Given the description of an element on the screen output the (x, y) to click on. 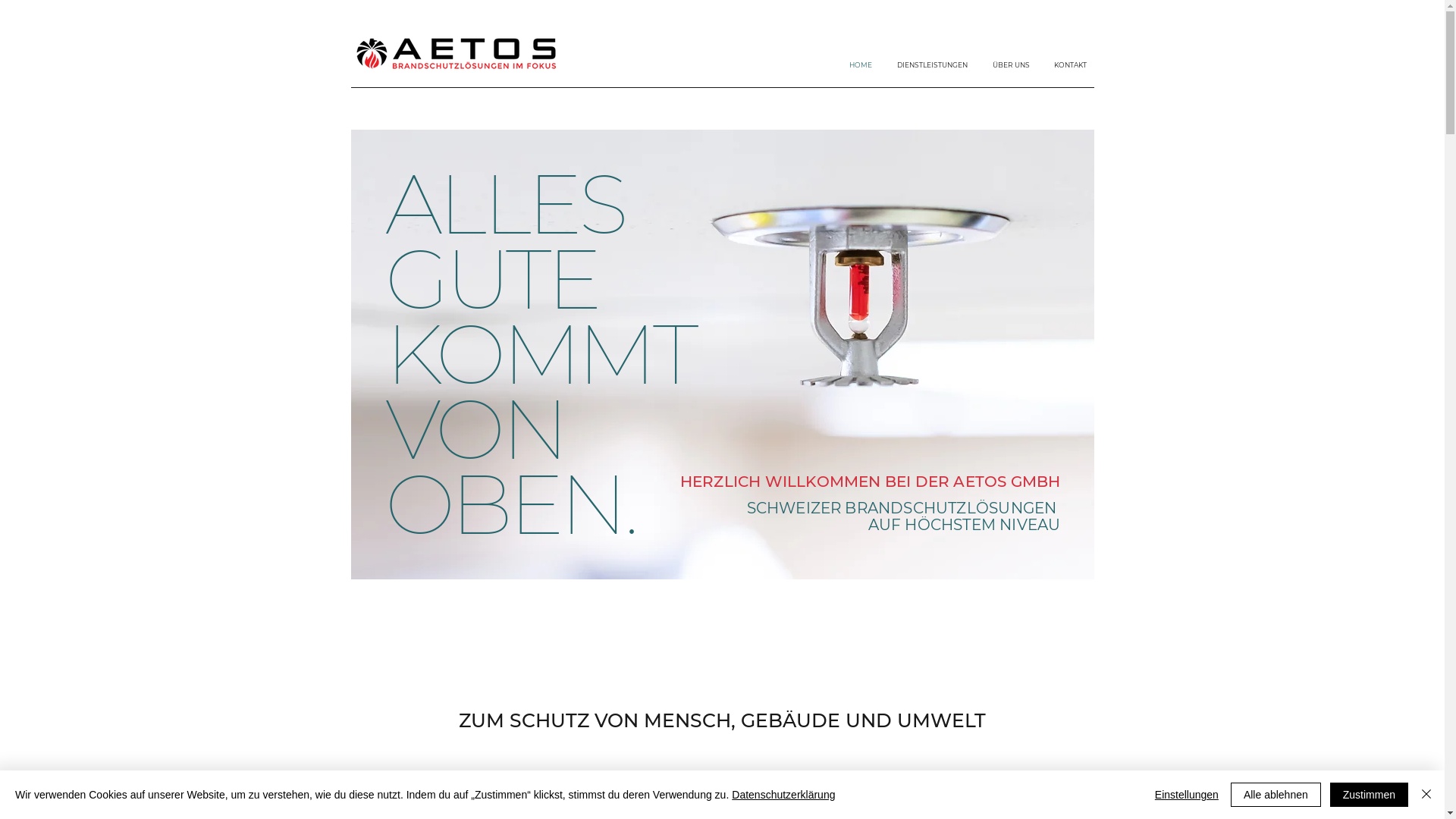
Zustimmen Element type: text (1369, 794)
KONTAKT Element type: text (1065, 65)
HOME Element type: text (854, 65)
Alle ablehnen Element type: text (1275, 794)
DIENSTLEISTUNGEN Element type: text (927, 65)
